Given the description of an element on the screen output the (x, y) to click on. 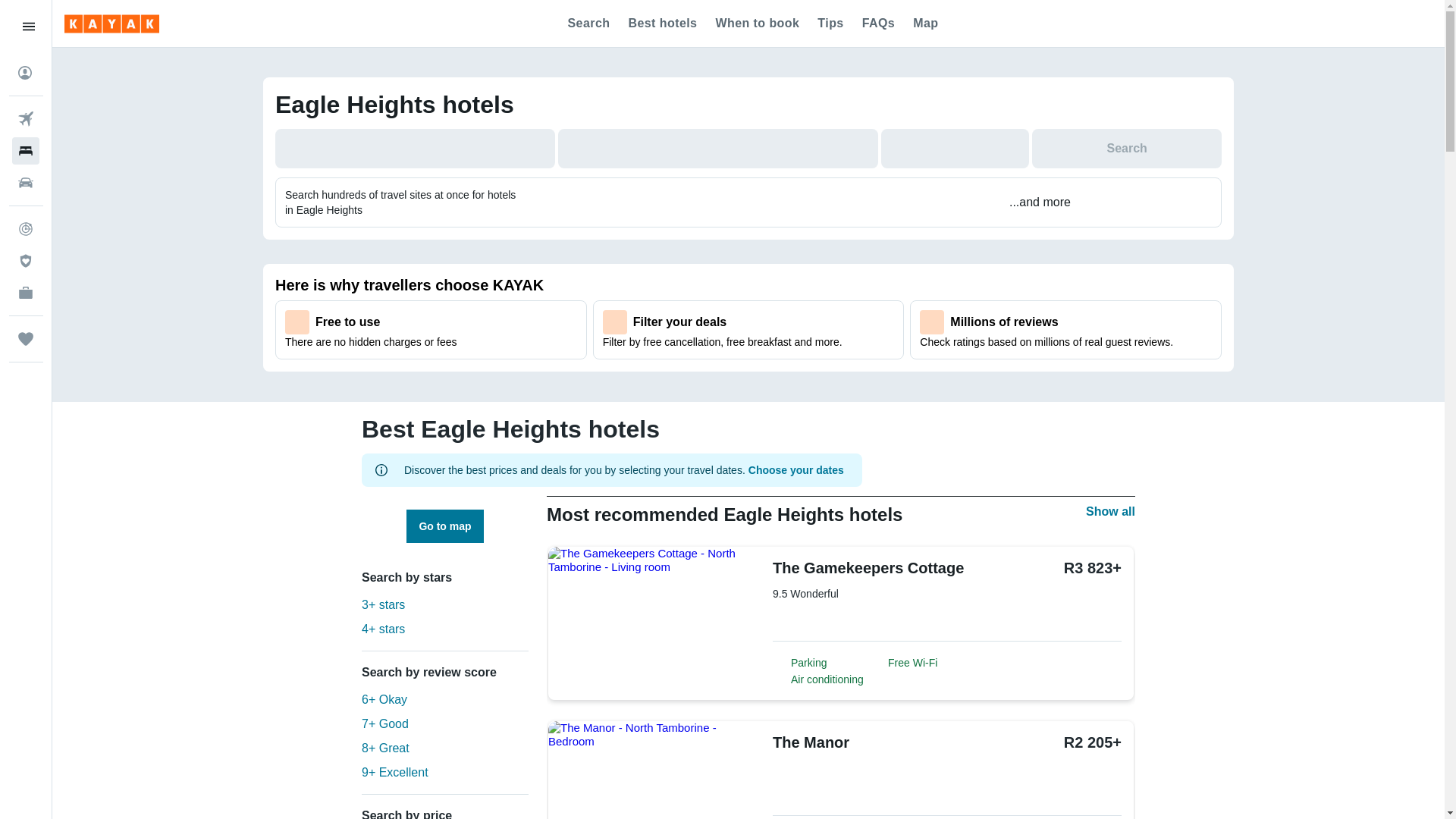
Search (1126, 148)
Search (1126, 148)
The Manor (860, 742)
Go to map (444, 526)
The Gamekeepers Cottage (868, 567)
Show all (1110, 511)
